Given the description of an element on the screen output the (x, y) to click on. 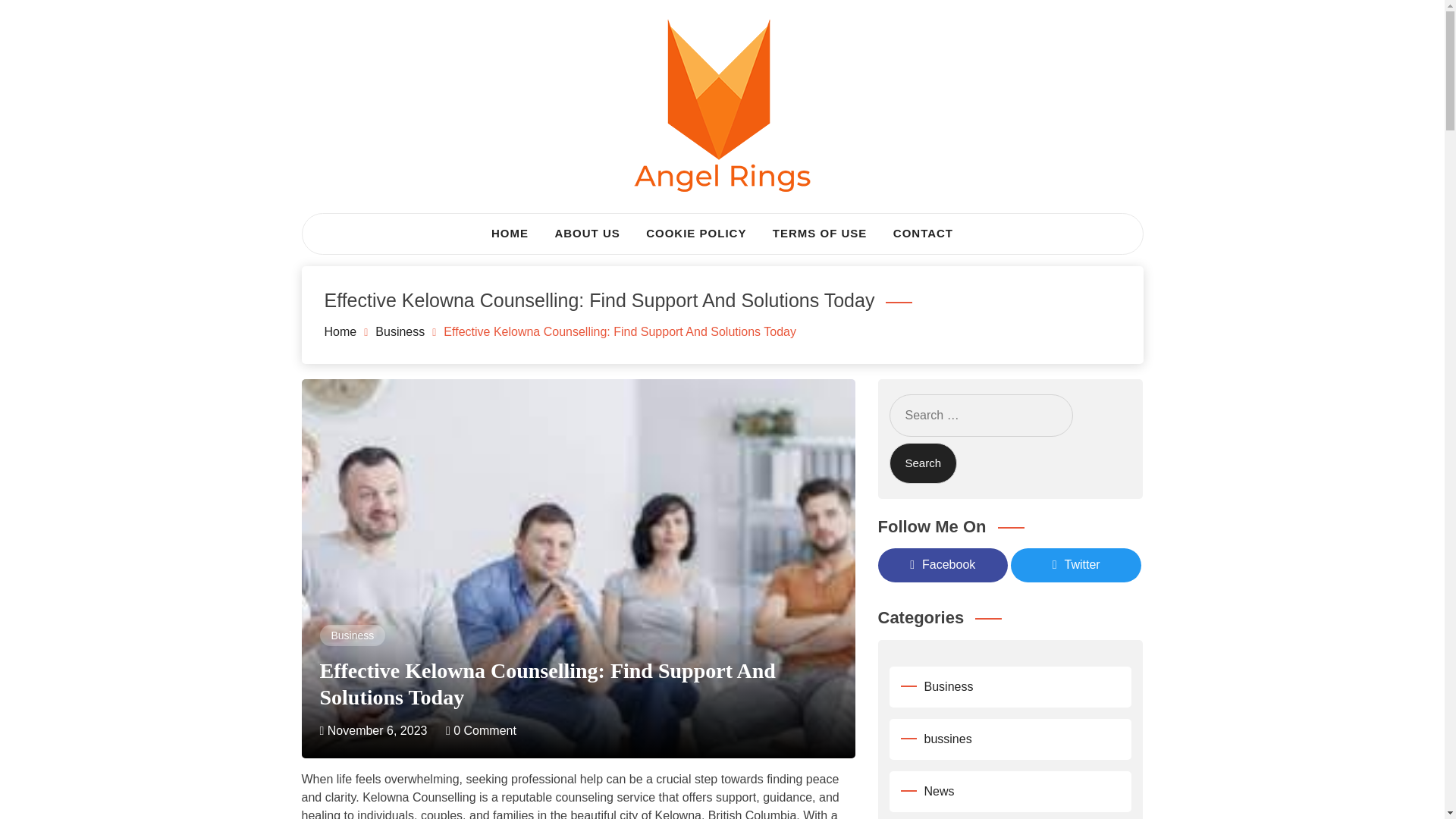
Home (340, 330)
Business (400, 330)
Search (922, 463)
CONTACT (922, 233)
HOME (510, 233)
ABOUT US (586, 233)
0 Comment (480, 729)
COOKIE POLICY (695, 233)
Business (352, 635)
Search (922, 463)
